Given the description of an element on the screen output the (x, y) to click on. 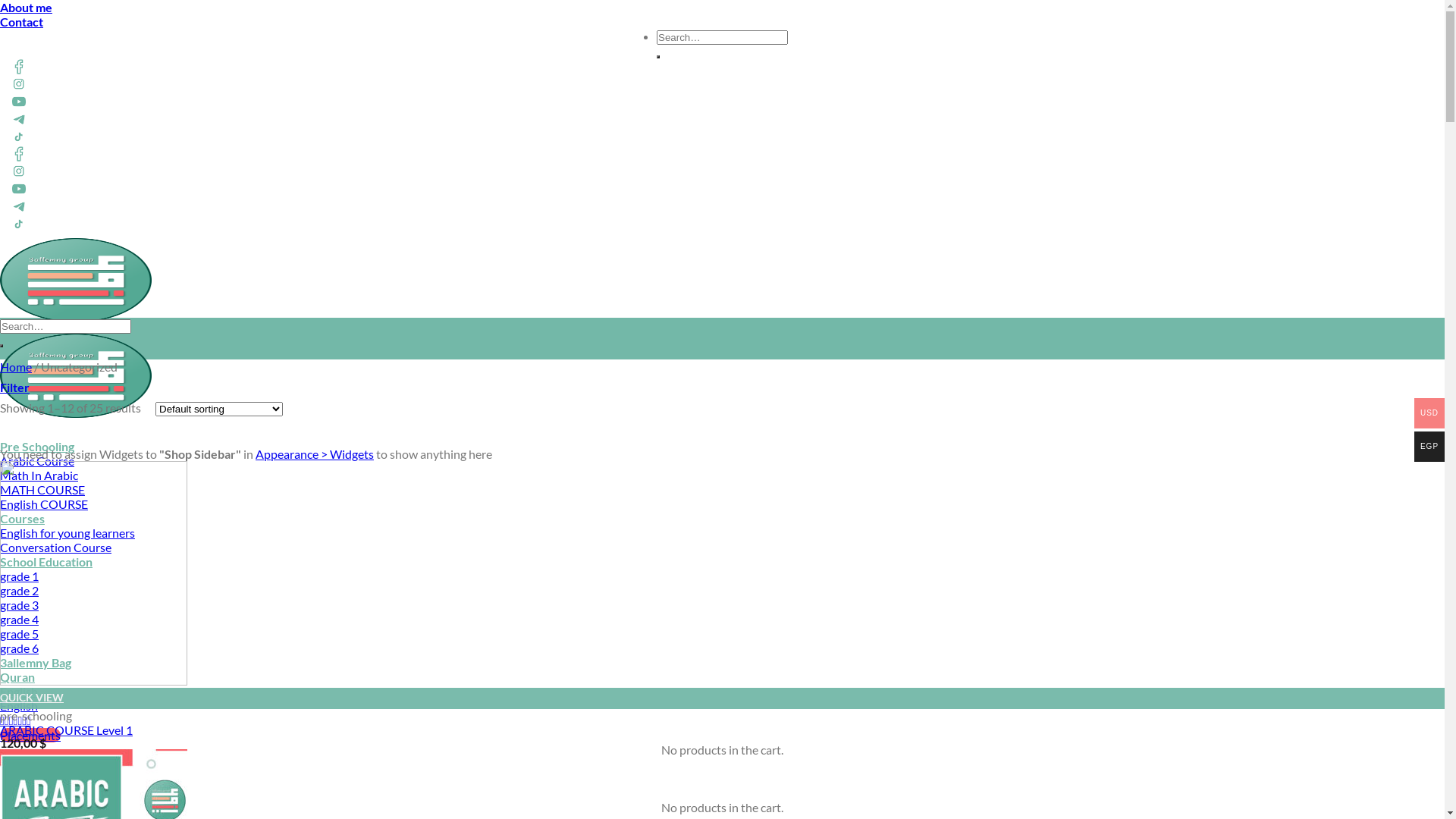
MATH COURSE Element type: text (42, 489)
Contact Element type: text (21, 21)
QUICK VIEW Element type: text (722, 698)
grade 2 Element type: text (19, 590)
English Element type: text (18, 705)
Home Element type: text (15, 366)
English Element type: text (18, 691)
Quran Element type: text (17, 676)
Search Element type: text (1, 345)
Search Element type: text (657, 56)
English COURSE Element type: text (43, 503)
Placements Element type: text (30, 735)
ARABIC COURSE Level 1 Element type: text (66, 729)
School Education Element type: text (46, 561)
English for young learners Element type: text (67, 532)
Filter Element type: text (14, 386)
grade 4 Element type: text (19, 618)
grade 6 Element type: text (19, 647)
About me Element type: text (26, 7)
Arabic Course Element type: text (37, 460)
grade 5 Element type: text (19, 633)
Appearance > Widgets Element type: text (314, 453)
Pre Schooling Element type: text (37, 446)
Conversation Course Element type: text (55, 546)
Courses Element type: text (22, 518)
grade 3 Element type: text (19, 604)
Math In Arabic Element type: text (39, 474)
Placements Element type: text (30, 778)
3allemny Bag Element type: text (35, 662)
grade 1 Element type: text (19, 575)
